Given the description of an element on the screen output the (x, y) to click on. 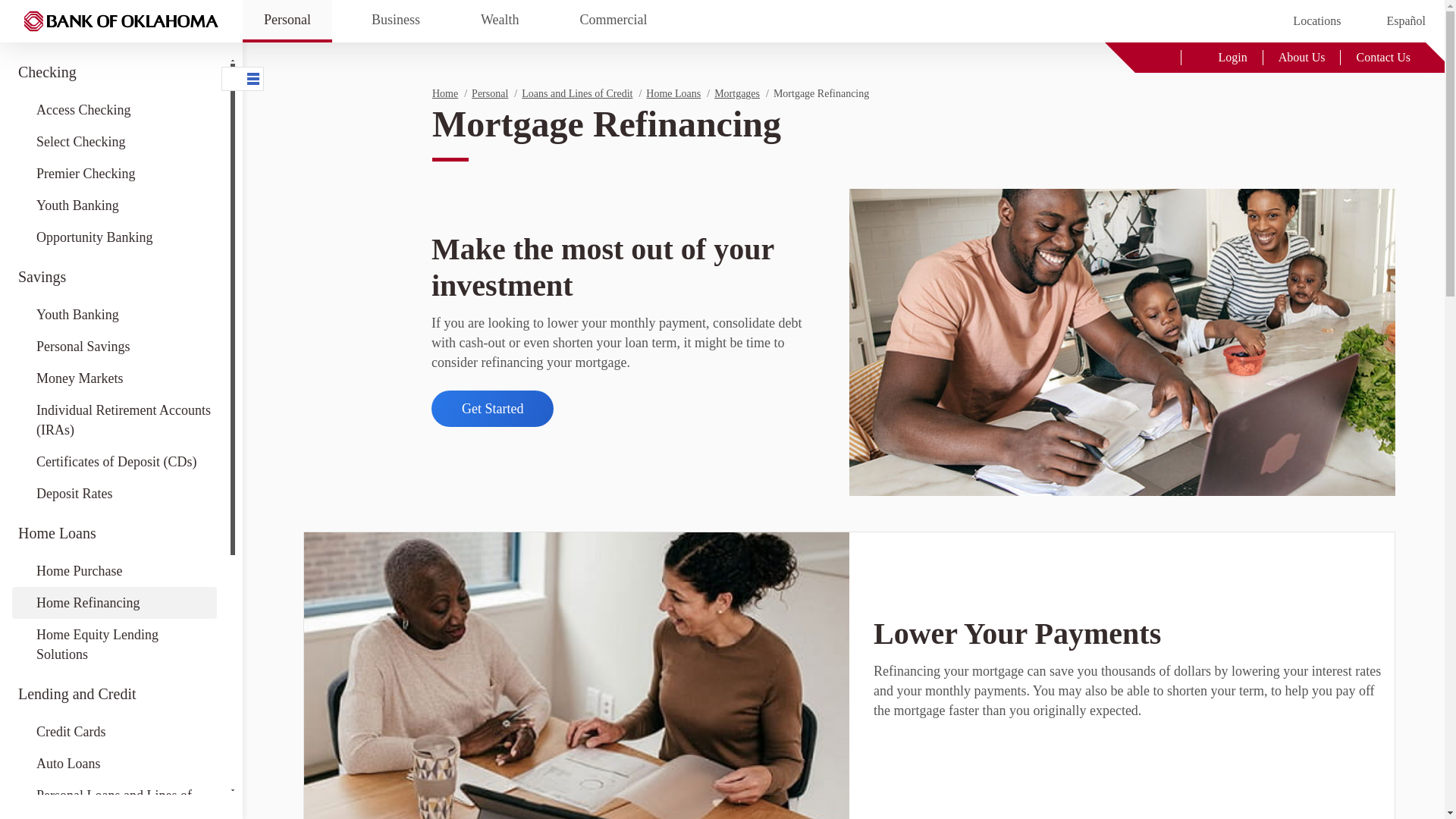
Search (1158, 57)
Home Equity Lending Solutions (113, 644)
Home Refinancing (113, 603)
Home Purchase (113, 571)
Opportunity Banking (113, 237)
Youth Banking (113, 205)
Select Checking (113, 142)
Home Loans (113, 532)
Personal Loans and Lines of Credit (113, 799)
Deposit Rates (113, 493)
Checking (113, 71)
Youth Banking (113, 314)
Wealth (500, 21)
Locations (1304, 20)
Business (395, 21)
